Given the description of an element on the screen output the (x, y) to click on. 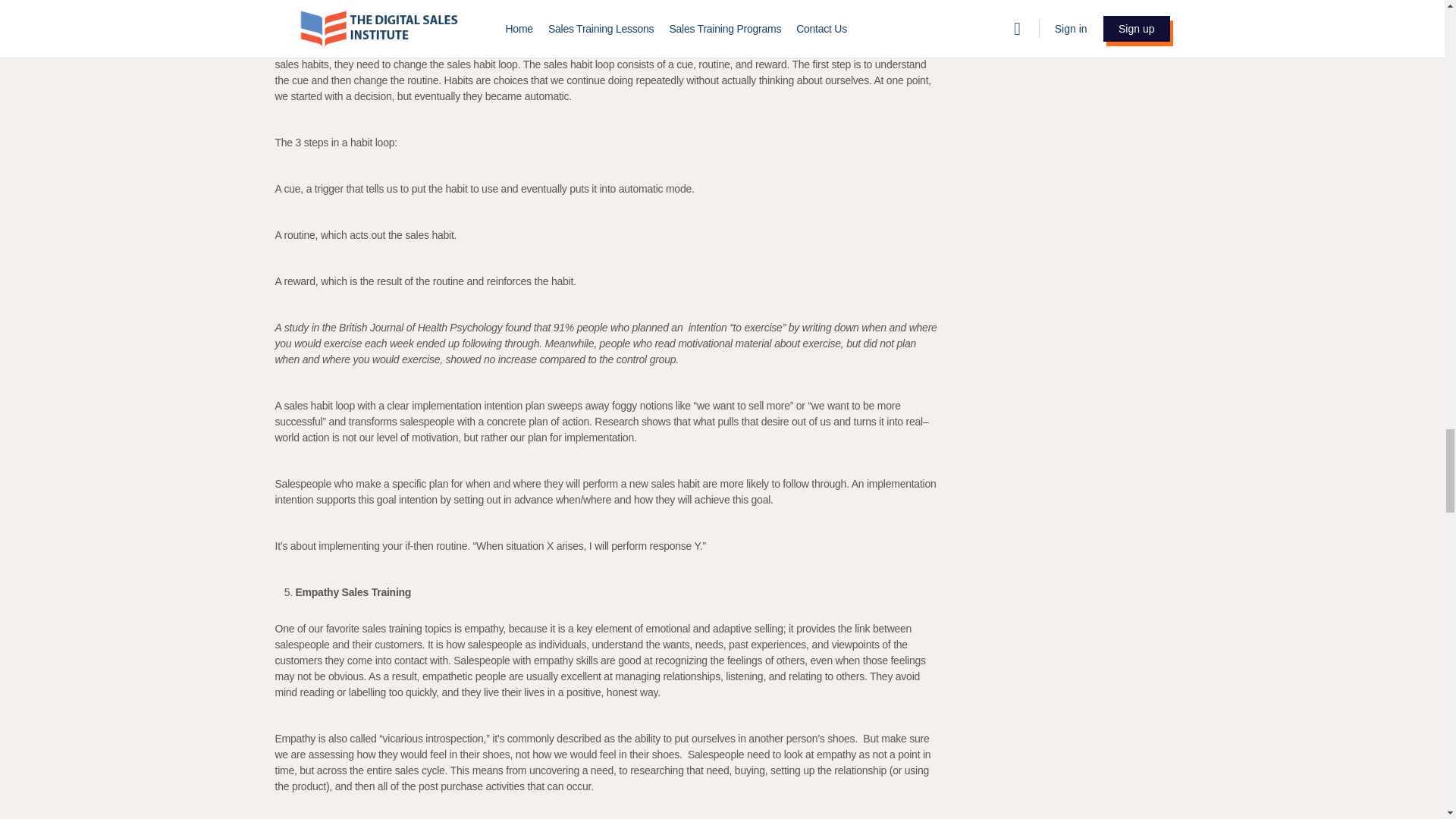
digital sales (725, 48)
